Given the description of an element on the screen output the (x, y) to click on. 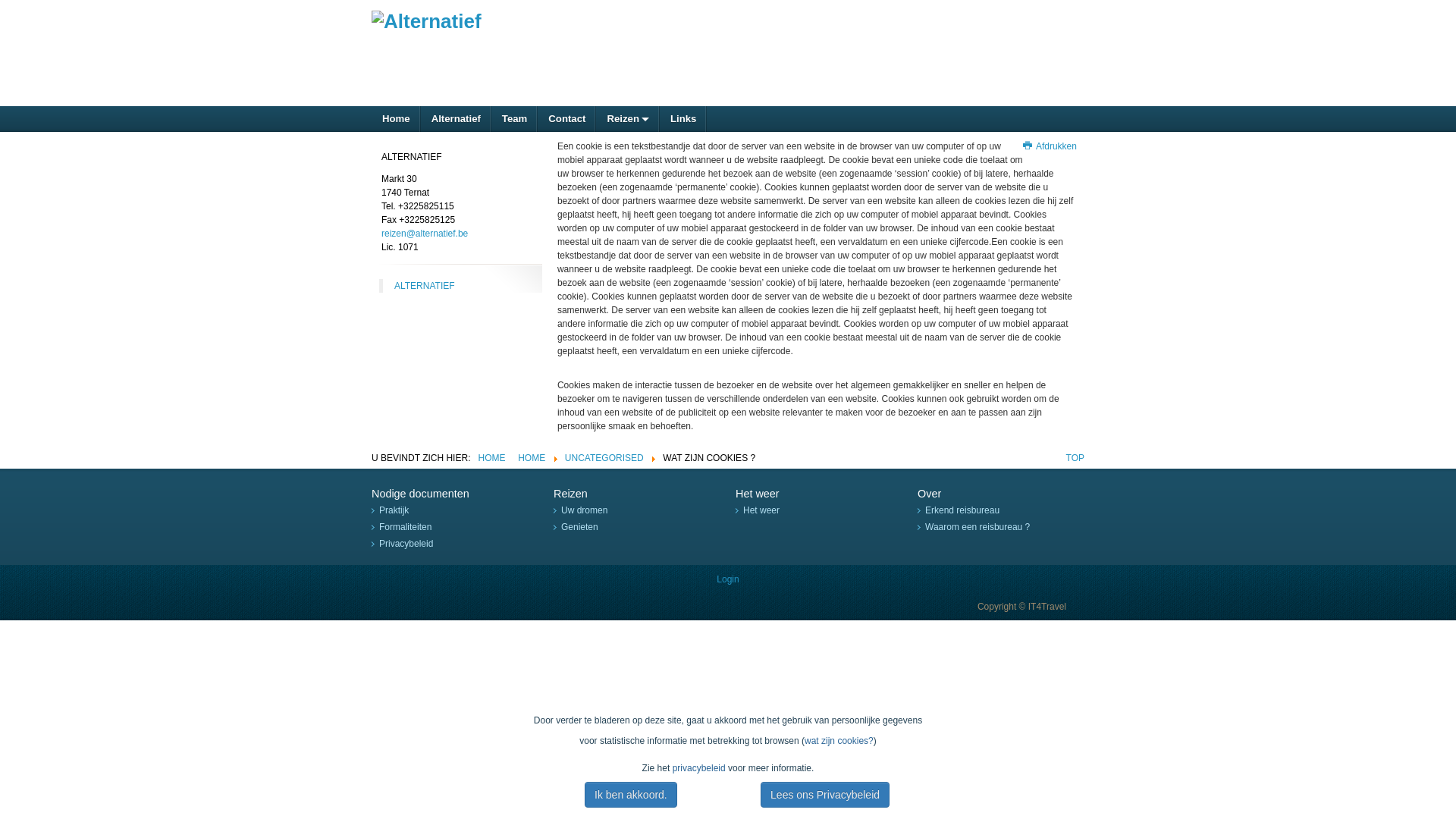
ALTERNATIEF Element type: text (424, 285)
HOME Element type: text (491, 457)
Login Element type: text (727, 579)
TOP Element type: text (1075, 457)
Home Element type: text (395, 118)
privacybeleid Element type: text (700, 767)
Afdrukken Element type: text (1049, 146)
Genieten Element type: text (579, 526)
Team Element type: text (514, 118)
Alternatief Element type: text (455, 118)
wat zijn cookies? Element type: text (838, 740)
Ik ben akkoord. Element type: text (630, 794)
Lees ons Privacybeleid Element type: text (824, 794)
Privacybeleid Element type: text (406, 543)
Links Element type: text (682, 118)
Het weer Element type: text (761, 510)
https://www.alternatief.be/ Element type: hover (426, 19)
Formaliteiten Element type: text (405, 526)
Contact Element type: text (566, 118)
Praktijk Element type: text (393, 510)
Erkend reisbureau Element type: text (962, 510)
HOME Element type: text (531, 457)
Uw dromen Element type: text (584, 510)
reizen@alternatief.be Element type: text (424, 233)
Reizen Element type: text (627, 118)
Waarom een reisbureau ? Element type: text (977, 526)
UNCATEGORISED Element type: text (603, 457)
